Given the description of an element on the screen output the (x, y) to click on. 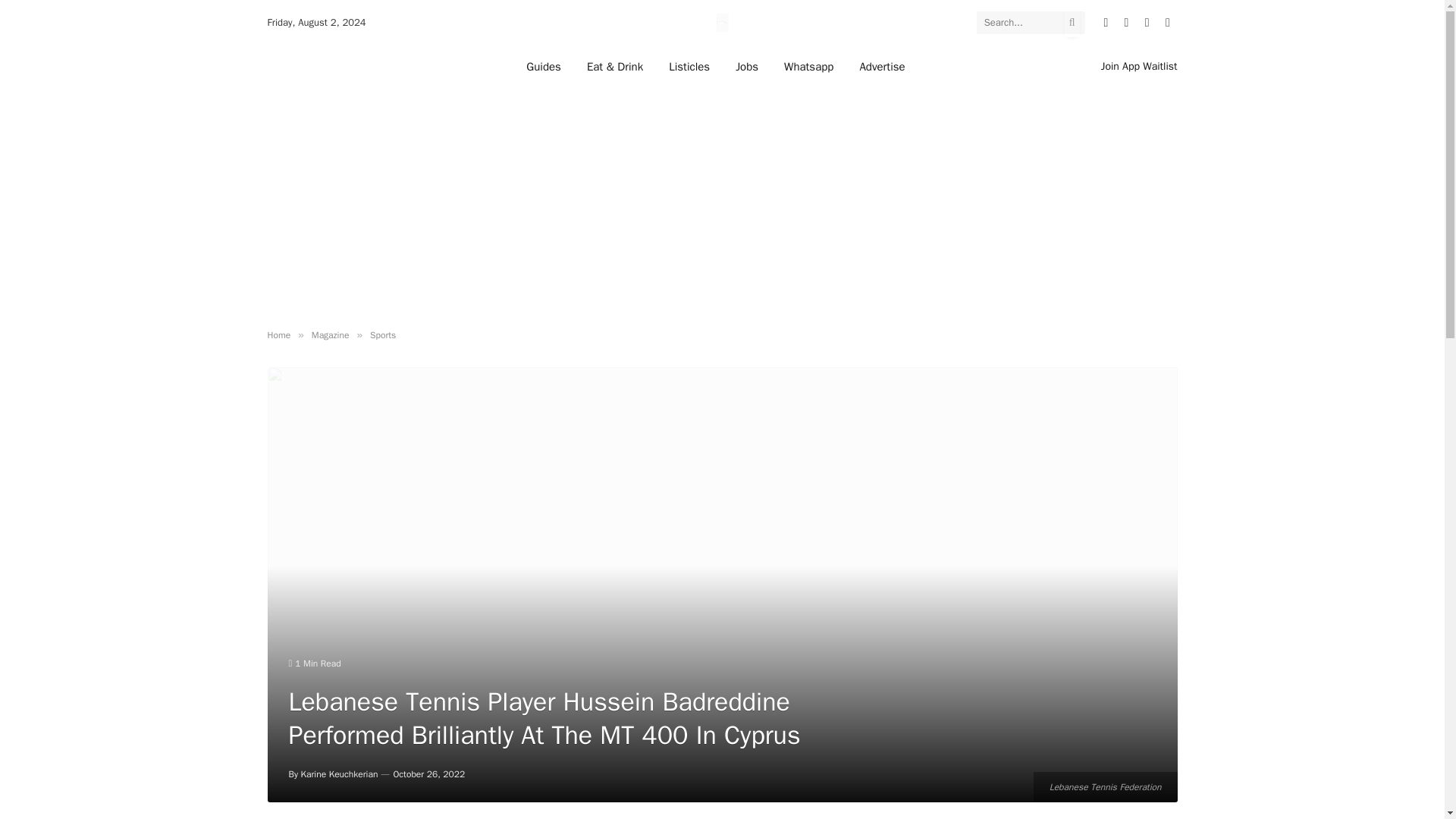
Magazine (330, 335)
Karine Keuchkerian (339, 774)
Posts by Karine Keuchkerian (339, 774)
Whatsapp (808, 65)
Home (277, 335)
Sports (382, 335)
Advertise (881, 65)
Jobs (746, 65)
Guides (543, 65)
